Given the description of an element on the screen output the (x, y) to click on. 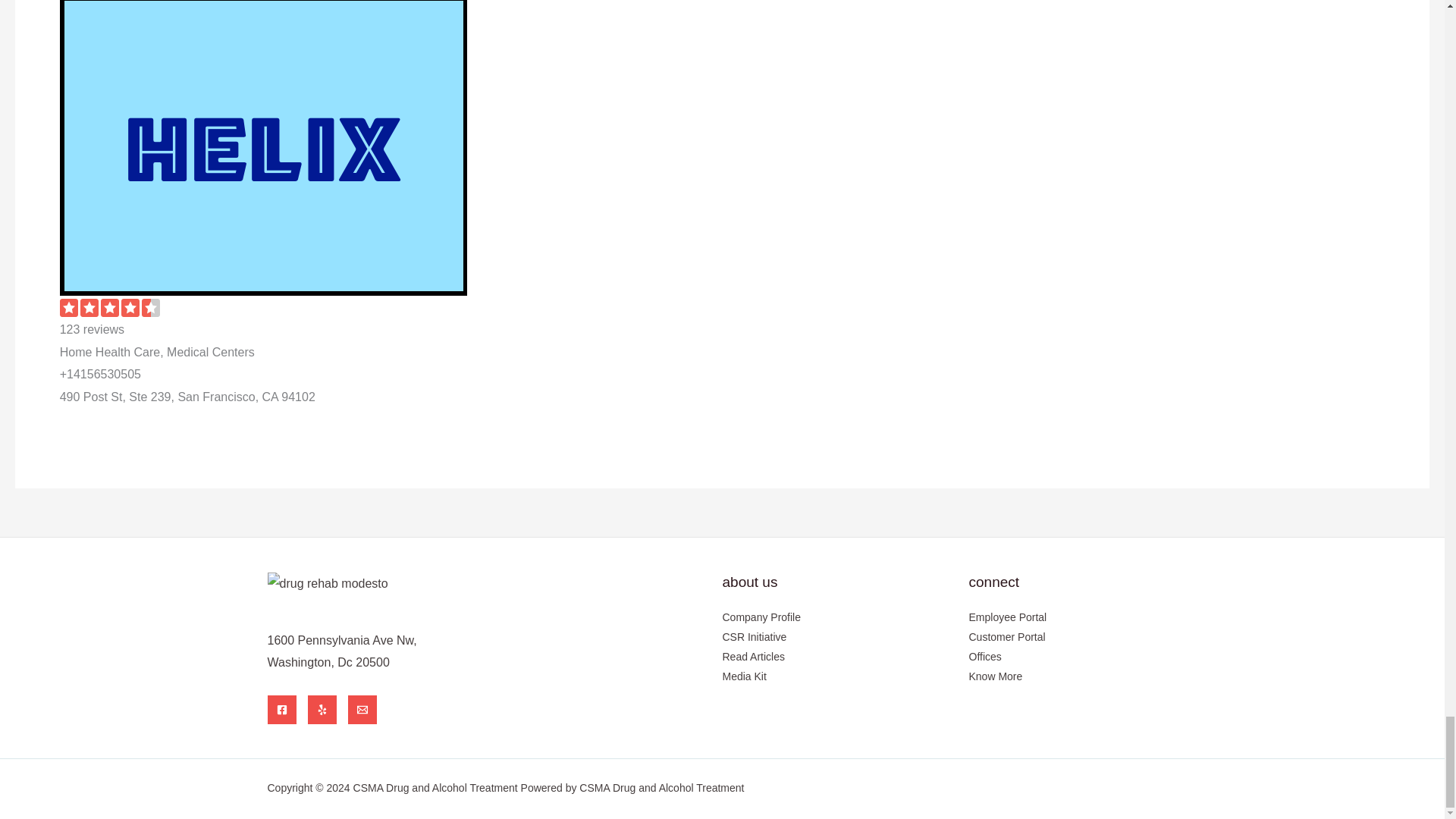
Customer Portal (1007, 636)
Know More (996, 676)
CSR Initiative (754, 636)
Offices (985, 656)
Employee Portal (1007, 616)
Media Kit (743, 676)
Read Articles (753, 656)
Company Profile (761, 616)
